Given the description of an element on the screen output the (x, y) to click on. 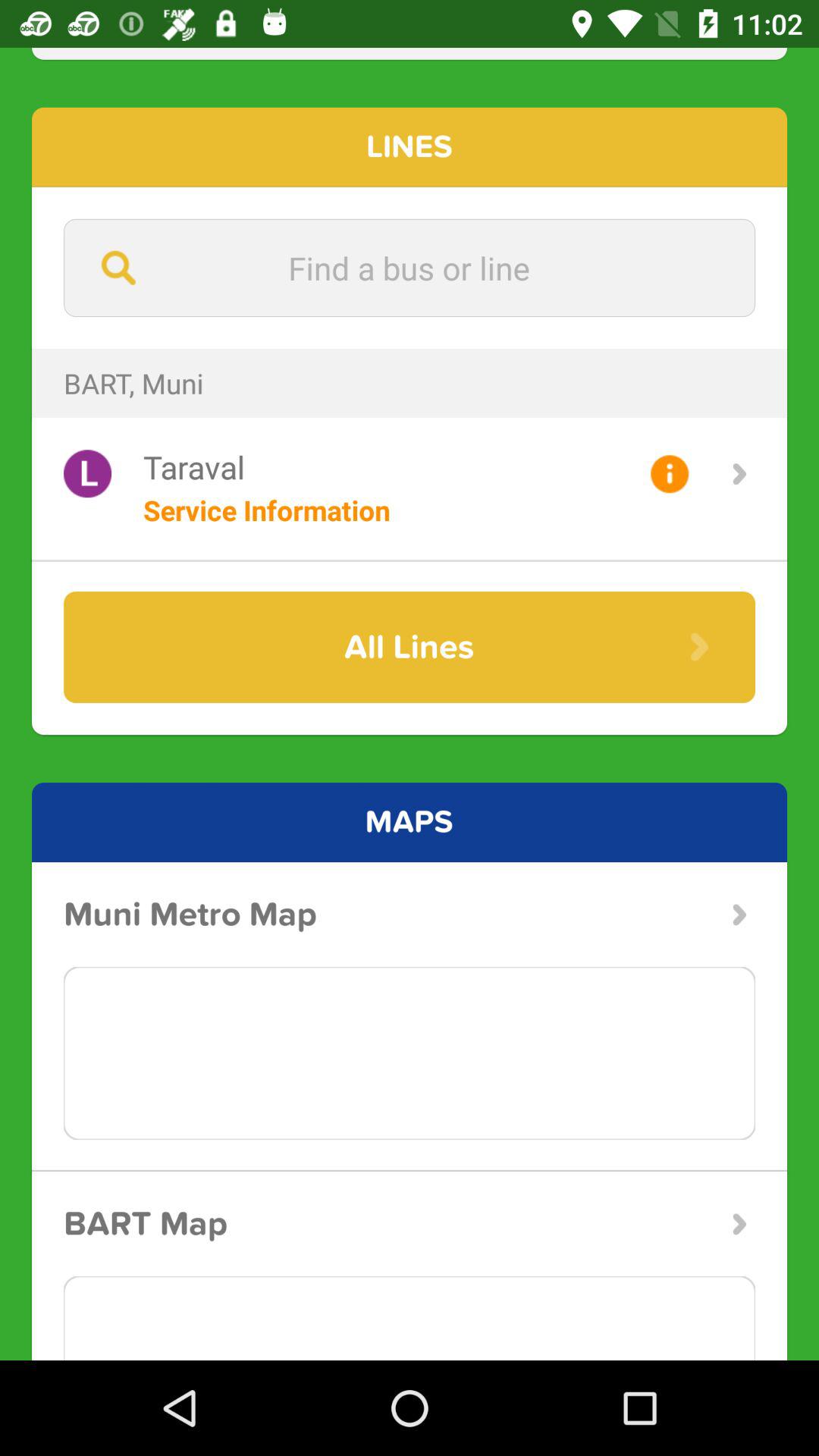
select the text box below bart map (409, 1317)
